Given the description of an element on the screen output the (x, y) to click on. 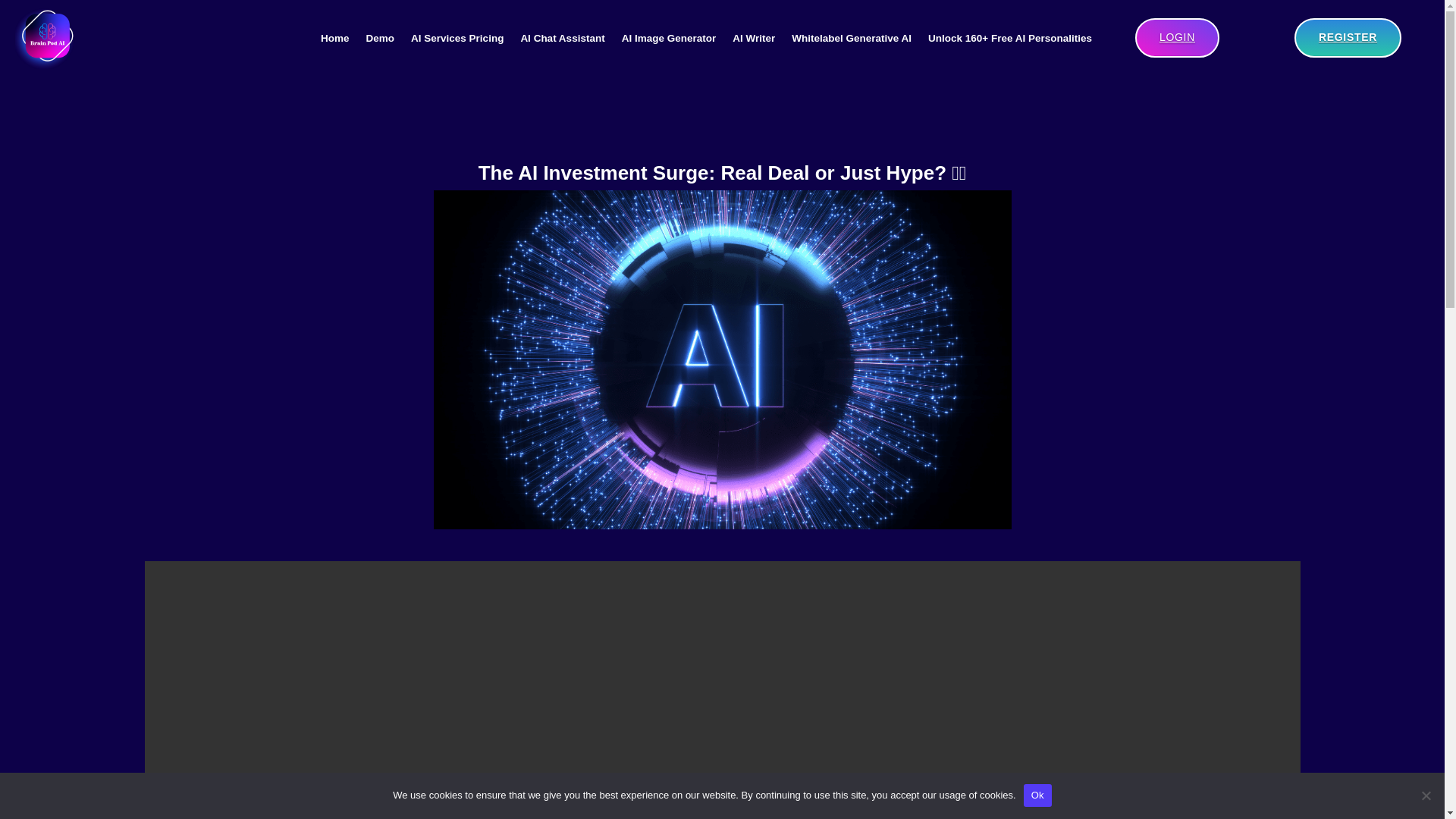
REGISTER (1347, 37)
AI Services Pricing (456, 37)
Whitelabel Generative AI (851, 37)
No (1425, 795)
AI Image Generator (668, 37)
LOGIN (1177, 37)
AI Chat Assistant (561, 37)
